Given the description of an element on the screen output the (x, y) to click on. 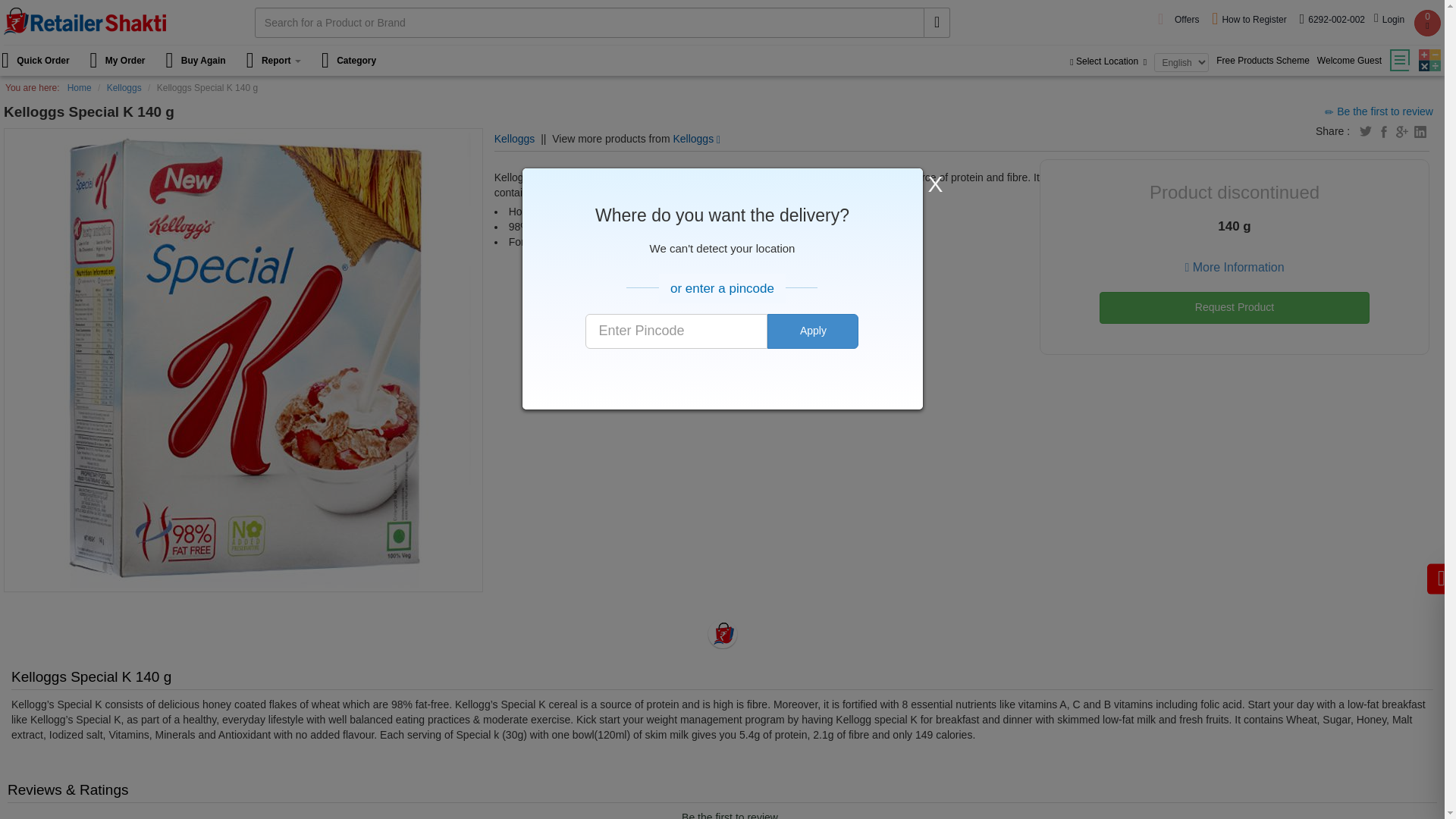
 Select Location   (1109, 60)
Quick Order (40, 60)
Kelloggs (123, 87)
0 (1427, 22)
Welcome Guest (1349, 60)
Report (275, 60)
6292-002-002 (1332, 19)
Kelloggs (515, 138)
Kelloggs Special K 140 g (243, 579)
How to Register (1250, 19)
Kelloggs  (696, 138)
Offers (1188, 19)
Kelloggs (515, 138)
Free Products Scheme (1262, 60)
